Given the description of an element on the screen output the (x, y) to click on. 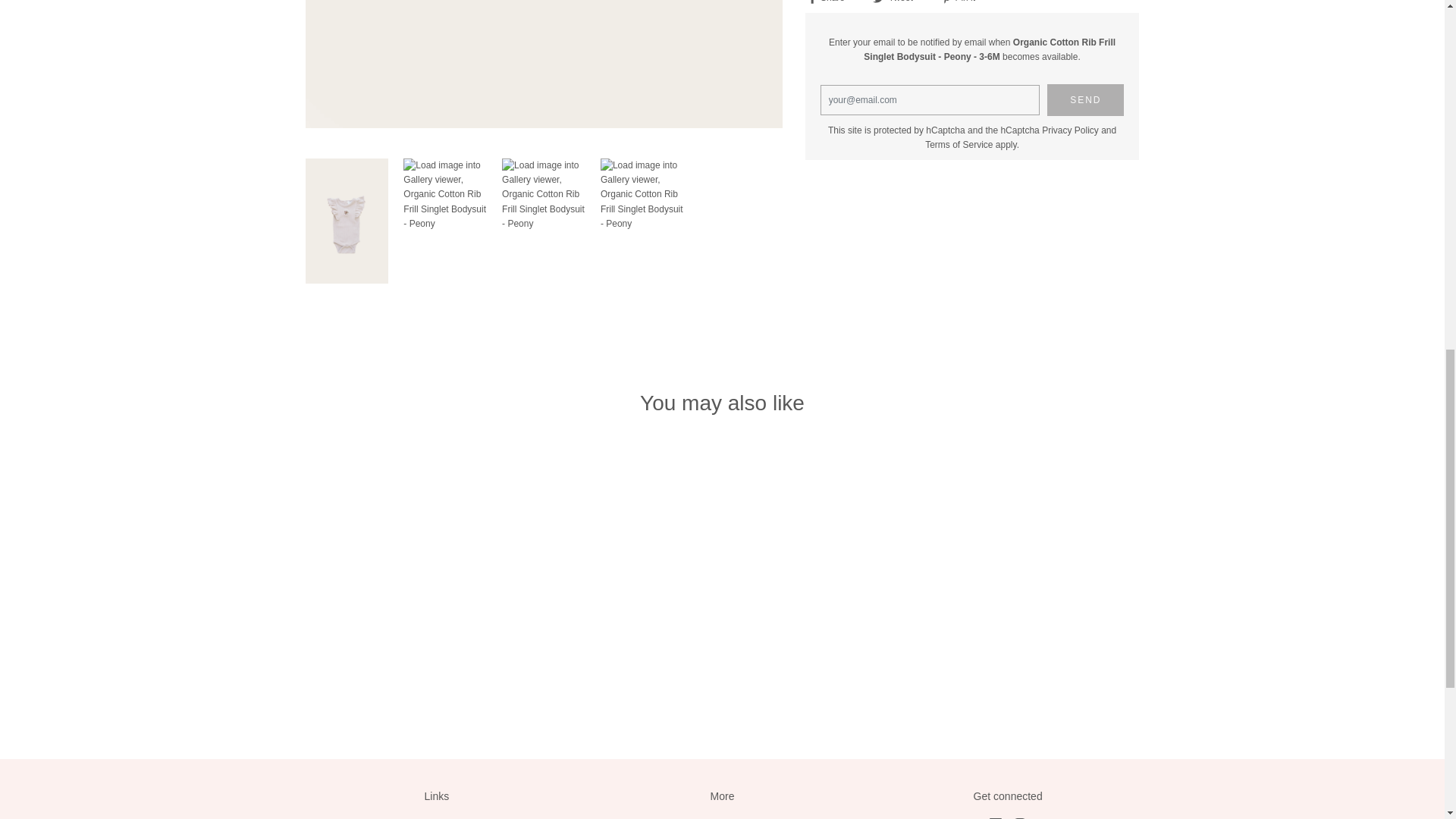
Send (1085, 100)
